Given the description of an element on the screen output the (x, y) to click on. 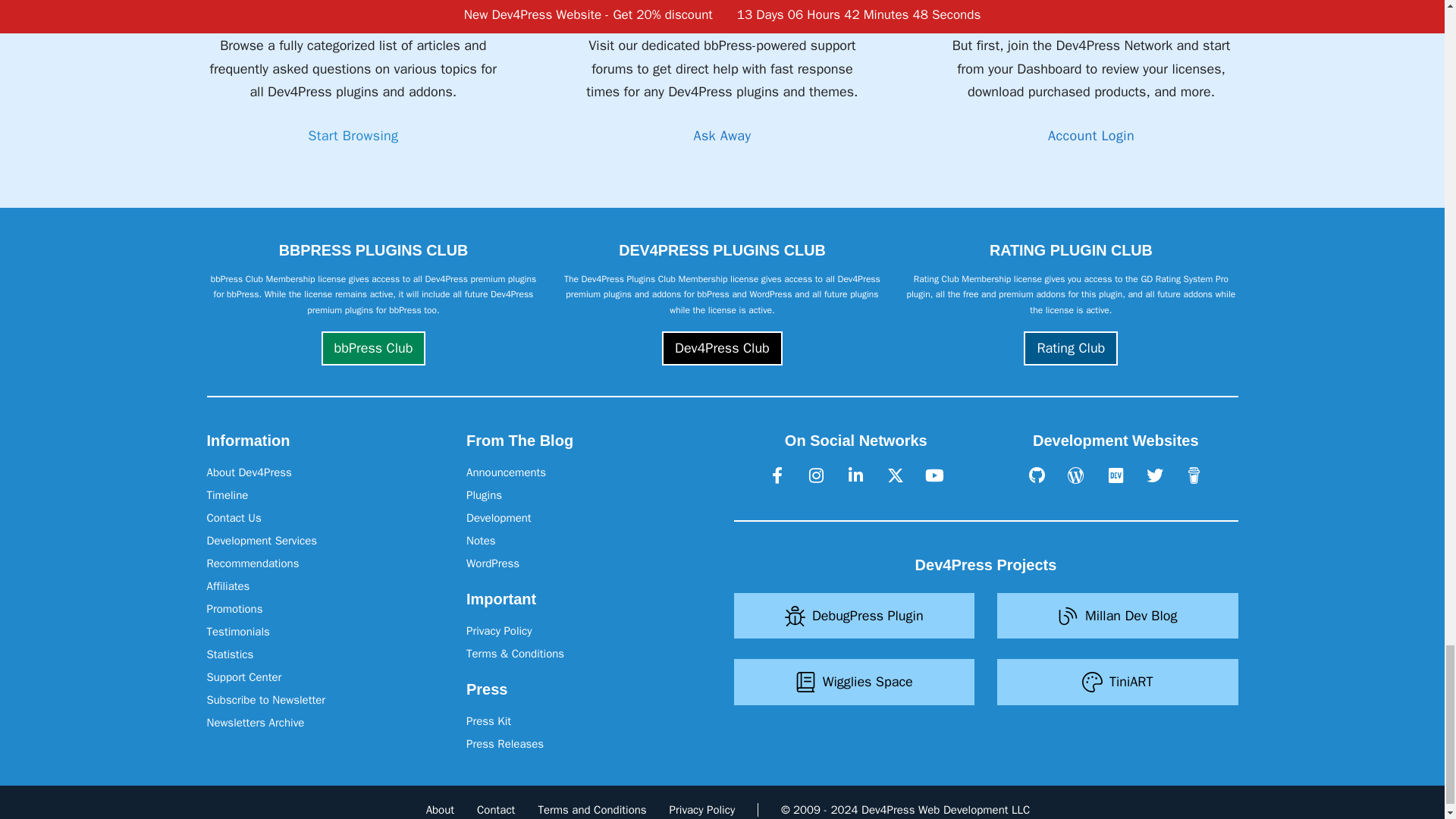
Account Login (1091, 136)
Ask Away (722, 136)
Start Browsing (352, 136)
